Given the description of an element on the screen output the (x, y) to click on. 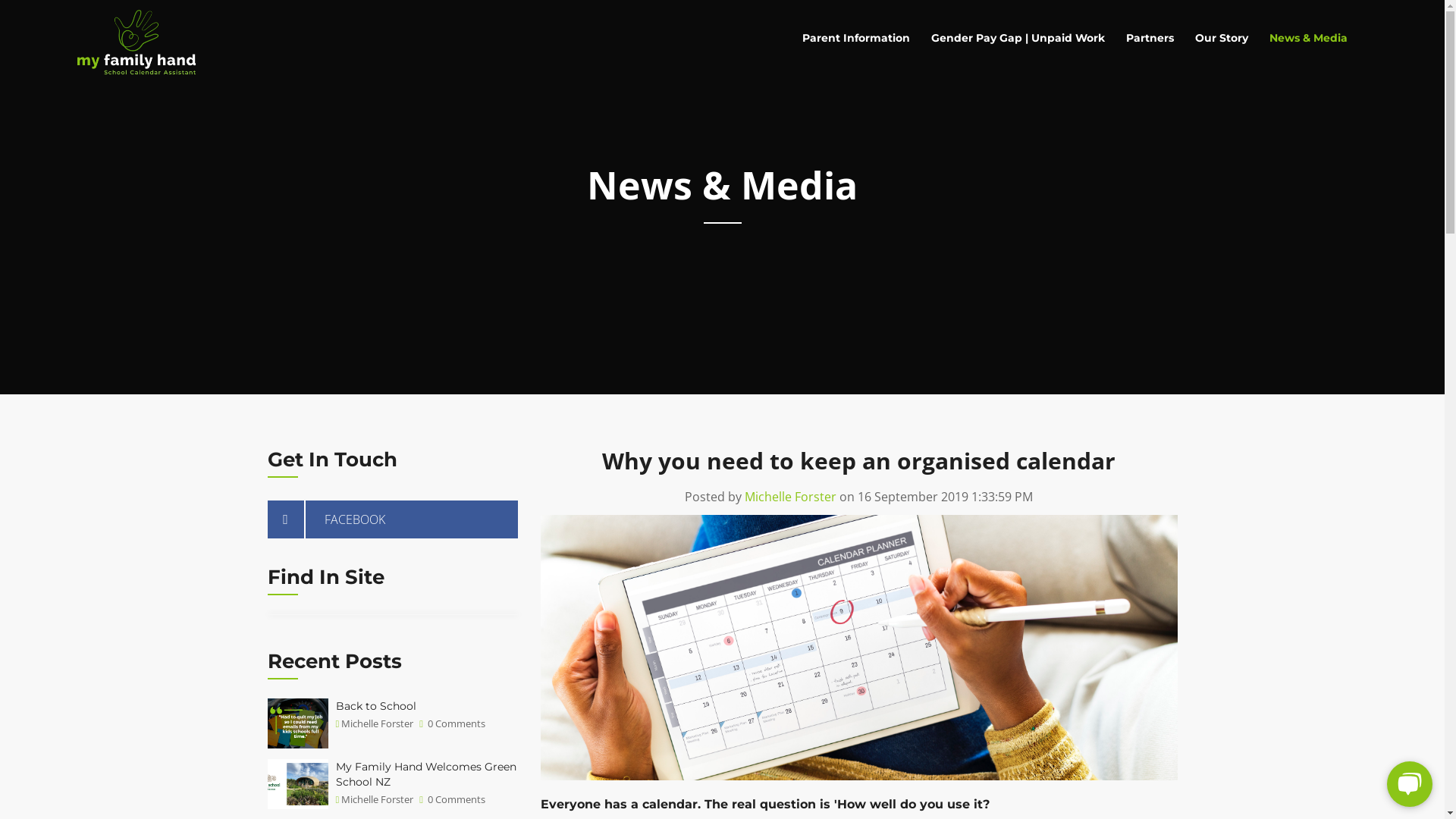
my family hand school app Element type: hover (136, 45)
contact@mywhanau.com.au Element type: text (608, 565)
my family hand school app Element type: hover (315, 546)
My Family Hand Welcomes Green School NZ Element type: text (425, 773)
FACEBOOK Element type: text (391, 519)
Partners Element type: text (1149, 37)
Our Story Element type: text (1221, 37)
Michelle Forster Element type: text (377, 723)
Privacy Policy Element type: text (767, 655)
Family Calendar Assistant Terms and Conditions Element type: text (839, 576)
School Calendar Assistant Terms and Conditions Element type: text (839, 620)
News & Media Element type: text (1308, 37)
How to Setup Email Forwarding Element type: text (811, 680)
Michelle Forster Element type: text (790, 496)
Parent Information Element type: text (855, 37)
Back to School Element type: text (375, 705)
Gender Pay Gap | Unpaid Work Element type: text (1017, 37)
Michelle Forster Element type: text (377, 799)
